Given the description of an element on the screen output the (x, y) to click on. 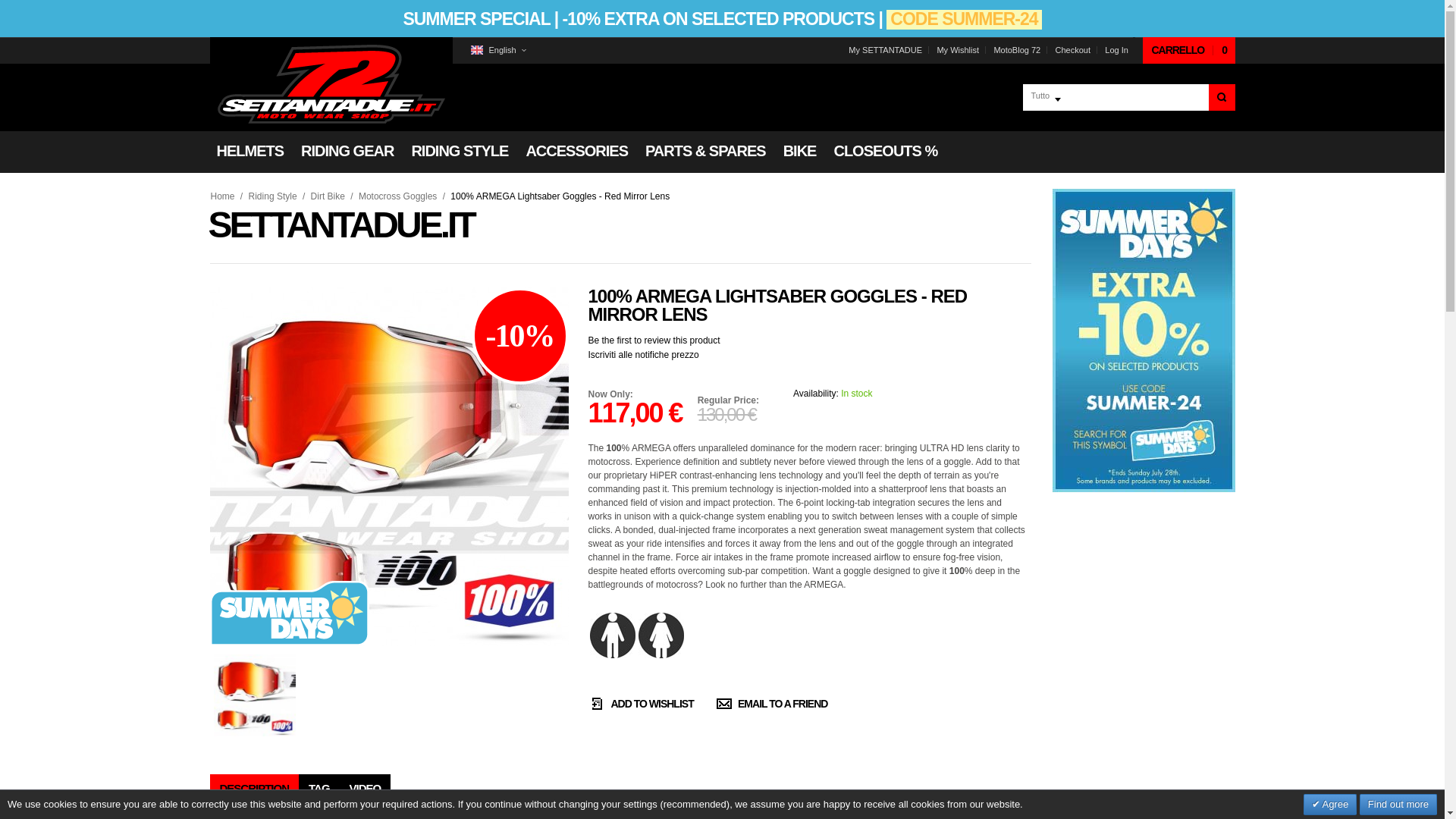
SETTANTADUE.IT Abbigliamento e Caschi Moto (330, 84)
HELMETS (249, 151)
MotoBlog 72 (1016, 49)
My Wishlist (957, 49)
Checkout (1072, 49)
CARRELLO0 (1188, 49)
CERCA (1221, 97)
Log In (1116, 49)
My SETTANTADUE (885, 49)
My SETTANTADUE (885, 49)
Log In (1116, 49)
My Wishlist (957, 49)
Cerca (1221, 97)
Checkout (1072, 49)
MotoBlog 72 (1016, 49)
